Given the description of an element on the screen output the (x, y) to click on. 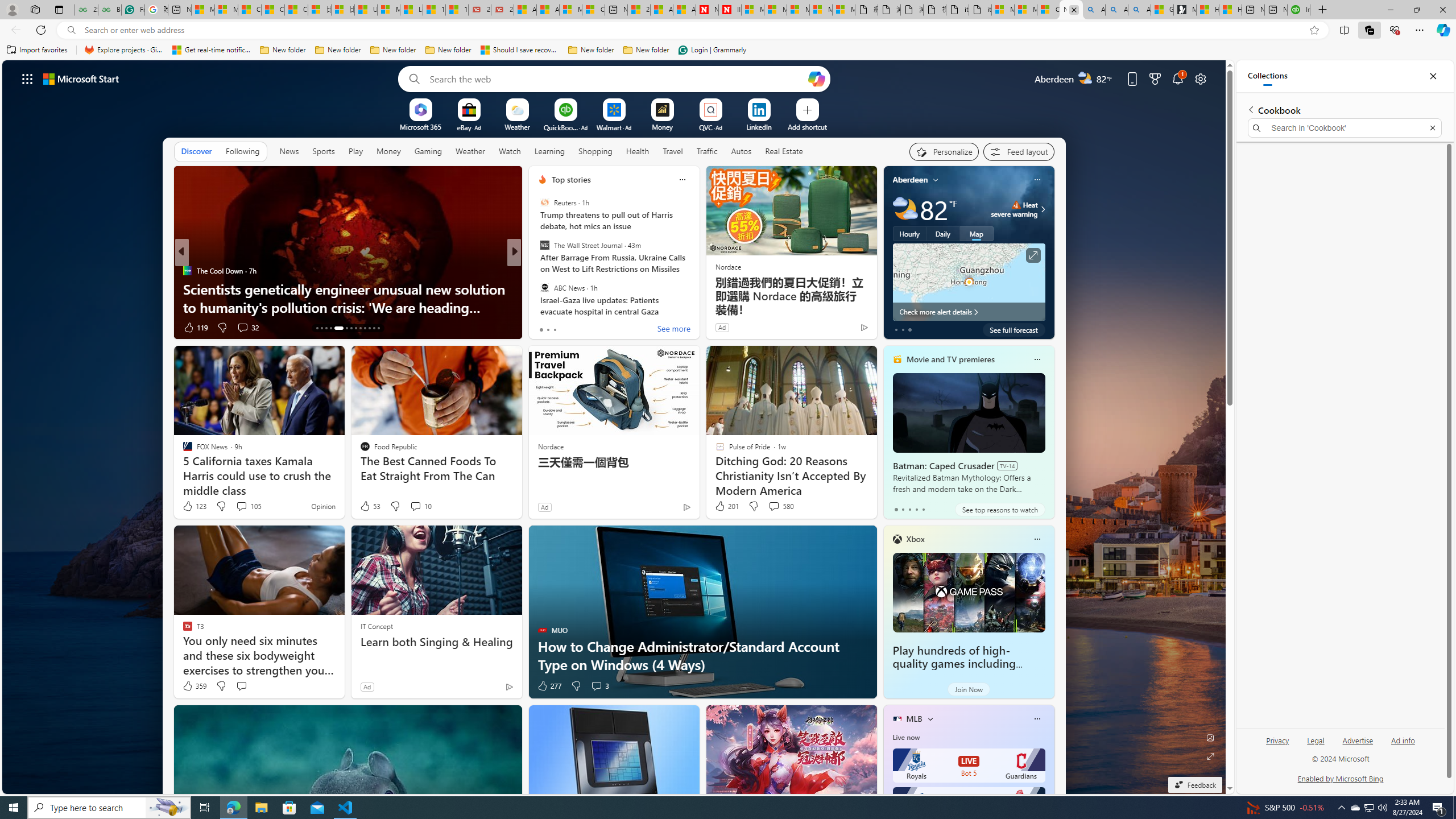
You're following Newsweek (839, 329)
View comments 15 Comment (592, 327)
Lovefood (537, 288)
My location (936, 179)
